Given the description of an element on the screen output the (x, y) to click on. 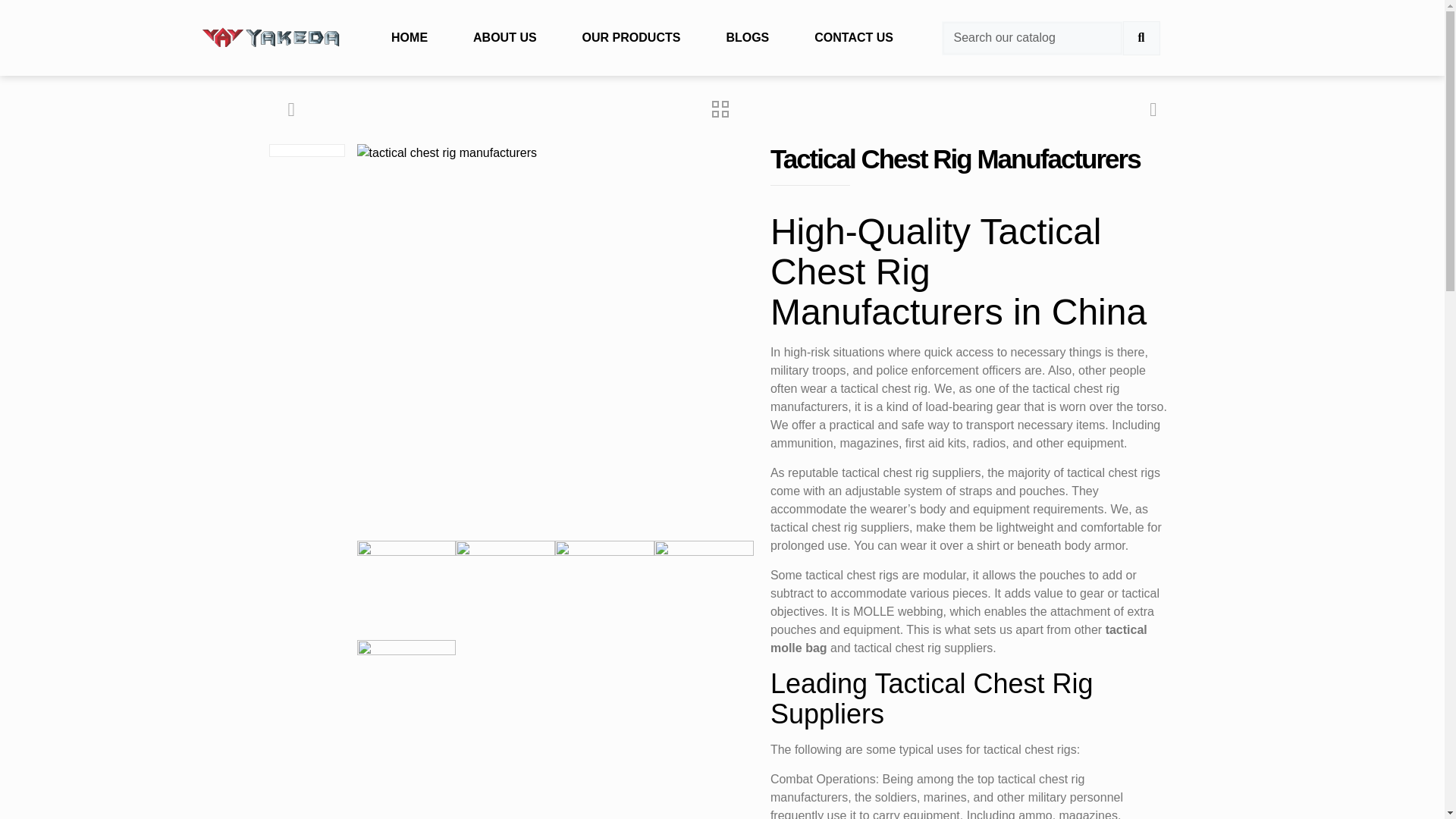
OUR PRODUCTS (631, 37)
Search (1032, 38)
Search (1141, 38)
ABOUT US (505, 37)
CONTACT US (853, 37)
